Given the description of an element on the screen output the (x, y) to click on. 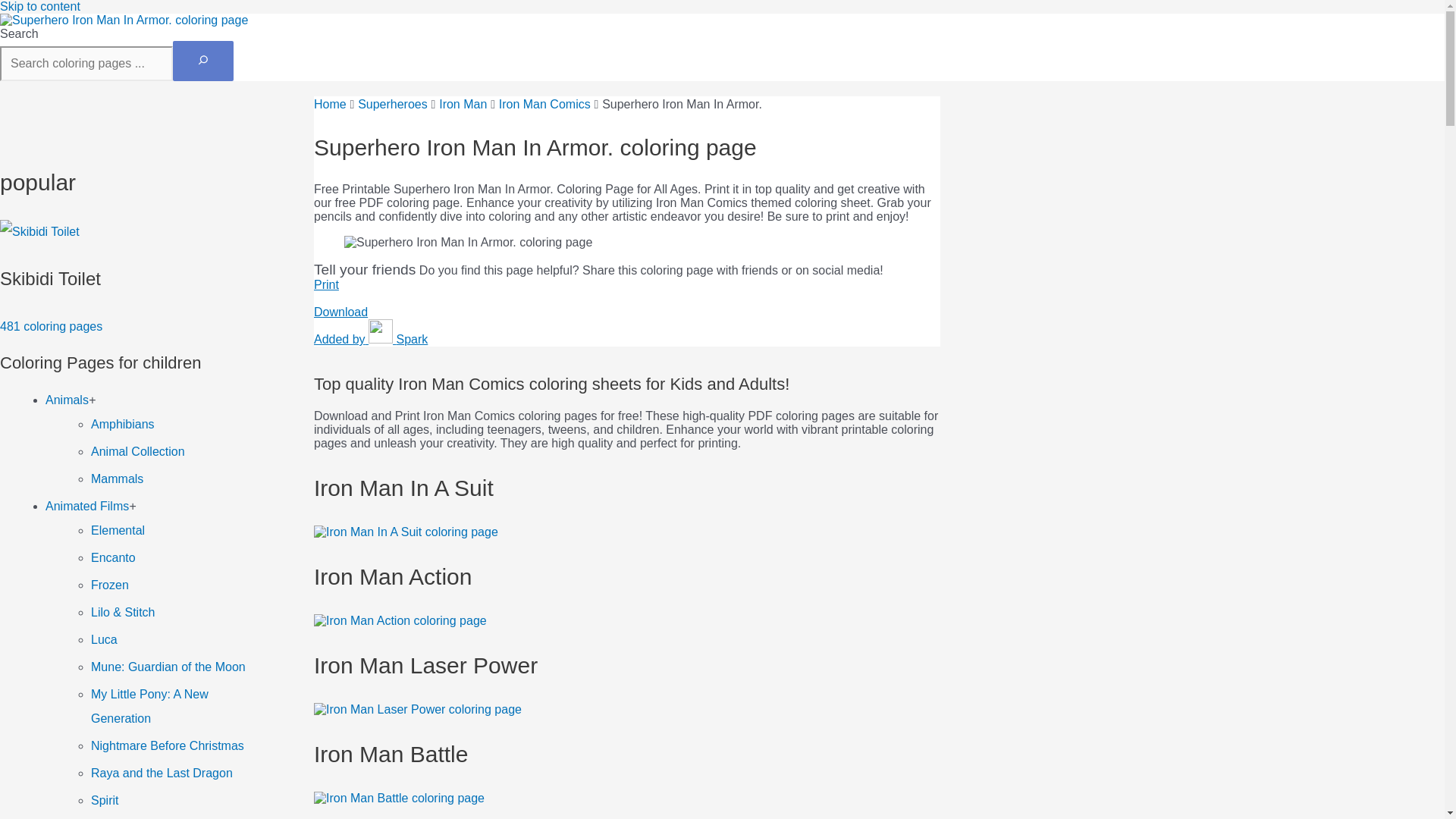
Spirit coloring pages (103, 799)
Mammals (116, 478)
Encanto coloring pages (112, 557)
Nightmare Before Christmas coloring pages (167, 745)
Raya and the Last Dragon coloring pages (161, 772)
Luca coloring pages (103, 639)
Elemental (117, 530)
My Little Pony: A New Generation coloring pages (149, 705)
Animals coloring pages (133, 279)
Mammals coloring pages (66, 399)
Luca (116, 478)
Animal Collection (103, 639)
Elemental coloring pages (137, 451)
Amphibians coloring pages (117, 530)
